Given the description of an element on the screen output the (x, y) to click on. 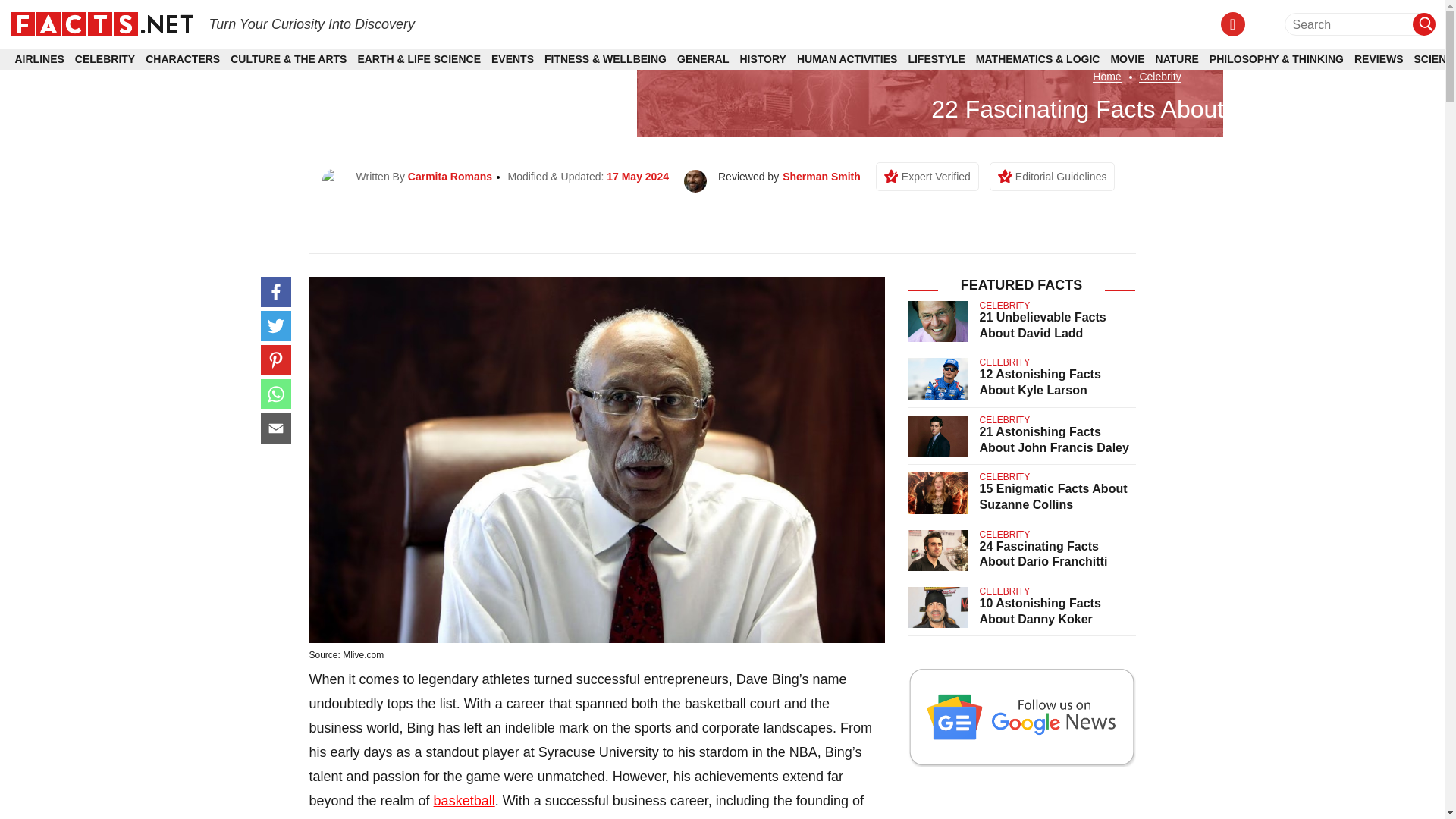
Bing (434, 818)
LIFESTYLE (935, 59)
EVENTS (513, 59)
basketball (464, 800)
CELEBRITY (105, 59)
HISTORY (762, 59)
CHARACTERS (182, 59)
Facts.net (100, 23)
GENERAL (703, 59)
HUMAN ACTIVITIES (846, 59)
